Given the description of an element on the screen output the (x, y) to click on. 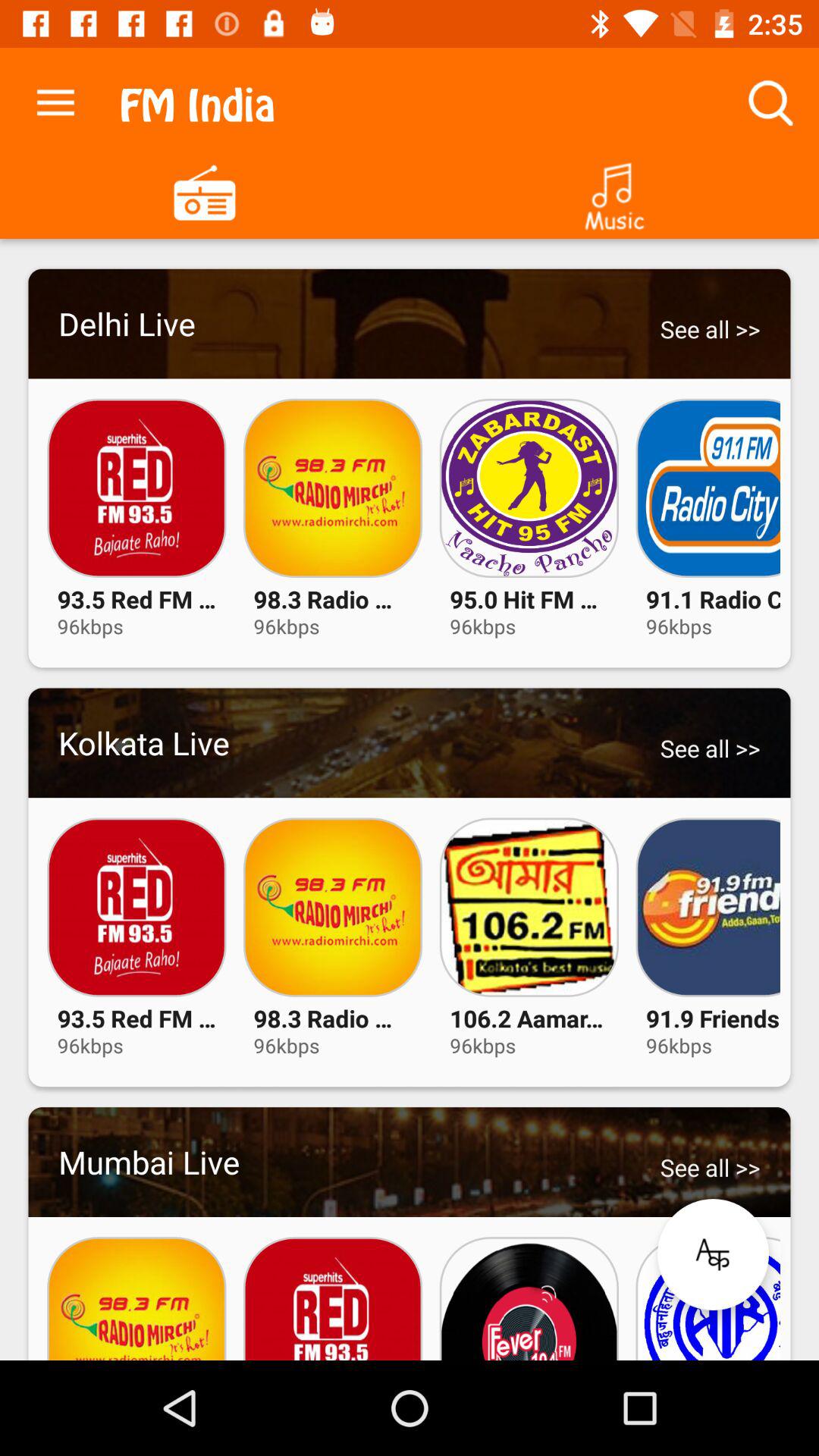
this is music dvd (614, 190)
